Given the description of an element on the screen output the (x, y) to click on. 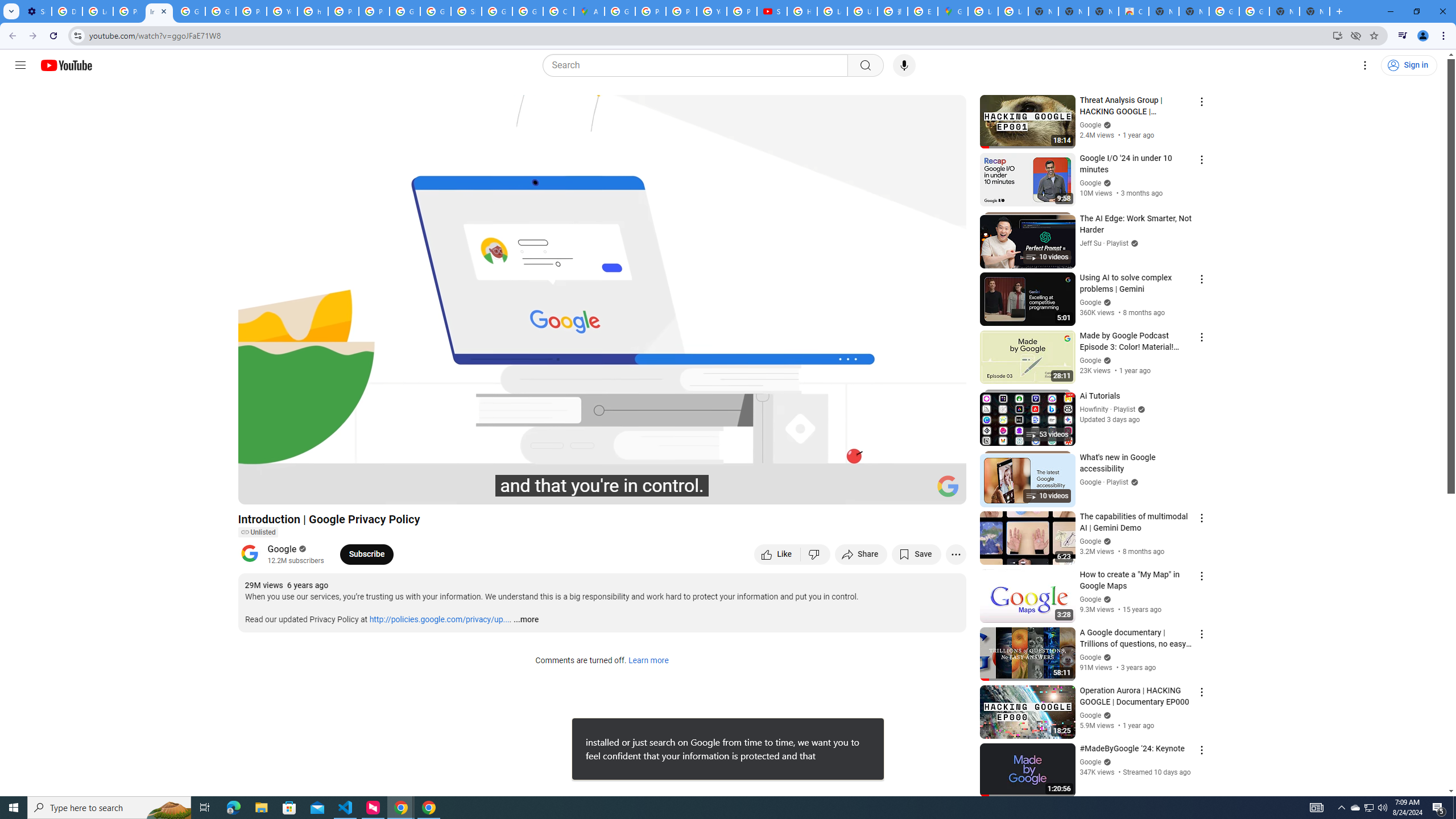
Subscribe to Google. (366, 554)
Google Images (1254, 11)
Pause (k) (257, 490)
http://policies.google.com/privacy/up... (439, 619)
